Given the description of an element on the screen output the (x, y) to click on. 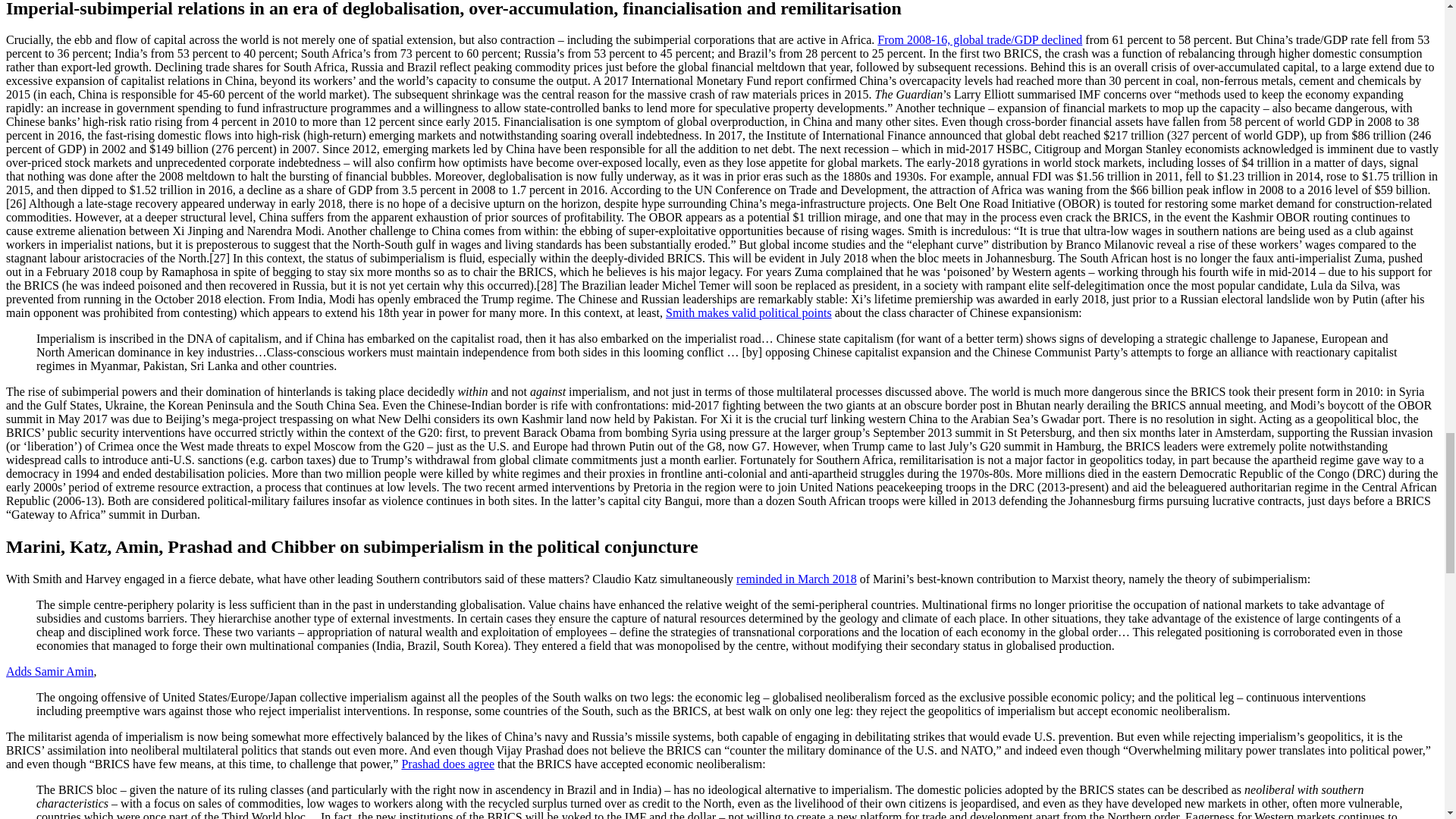
Adds Samir Amin (49, 671)
Prashad does agree (448, 763)
Smith makes valid political points (748, 312)
reminded in March 2018 (796, 578)
